Given the description of an element on the screen output the (x, y) to click on. 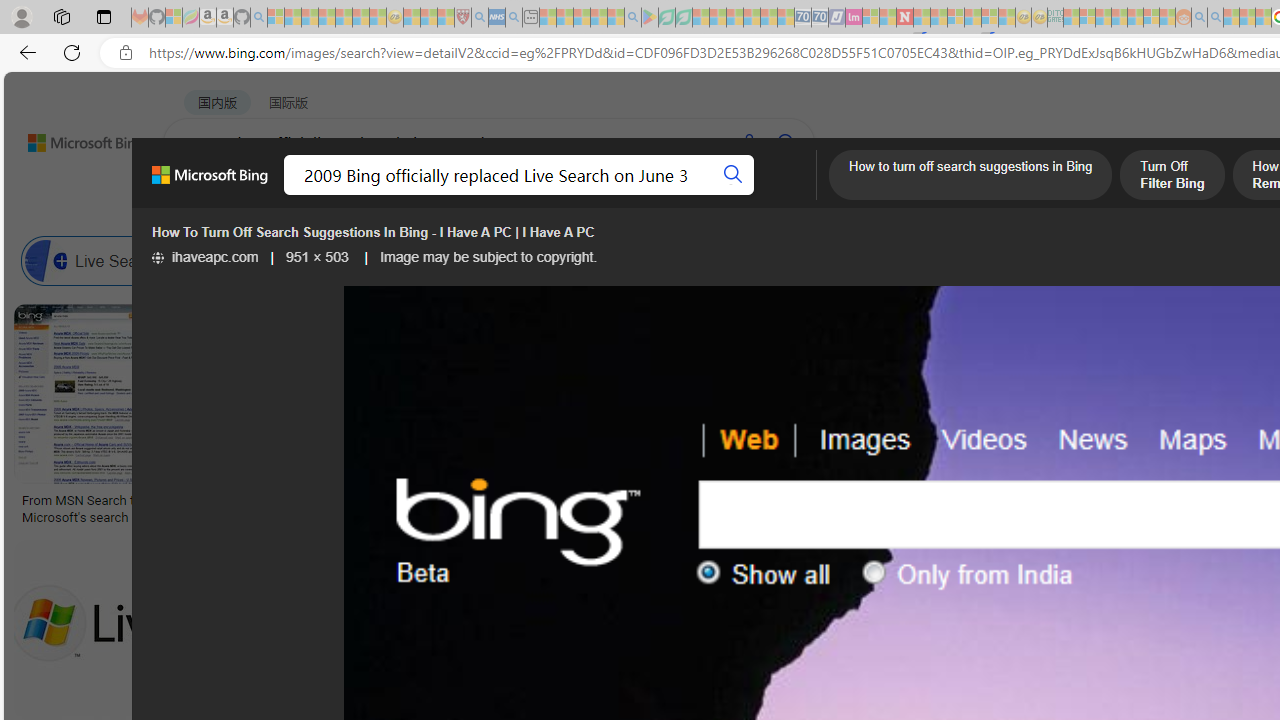
MORE (793, 195)
14 Common Myths Debunked By Scientific Facts - Sleeping (938, 17)
Jobs - lastminute.com Investor Portal - Sleeping (853, 17)
Microsoft Live Logo (737, 500)
VIDEOS (545, 195)
Microsoft Live Logo (598, 500)
Recipes - MSN - Sleeping (411, 17)
